Given the description of an element on the screen output the (x, y) to click on. 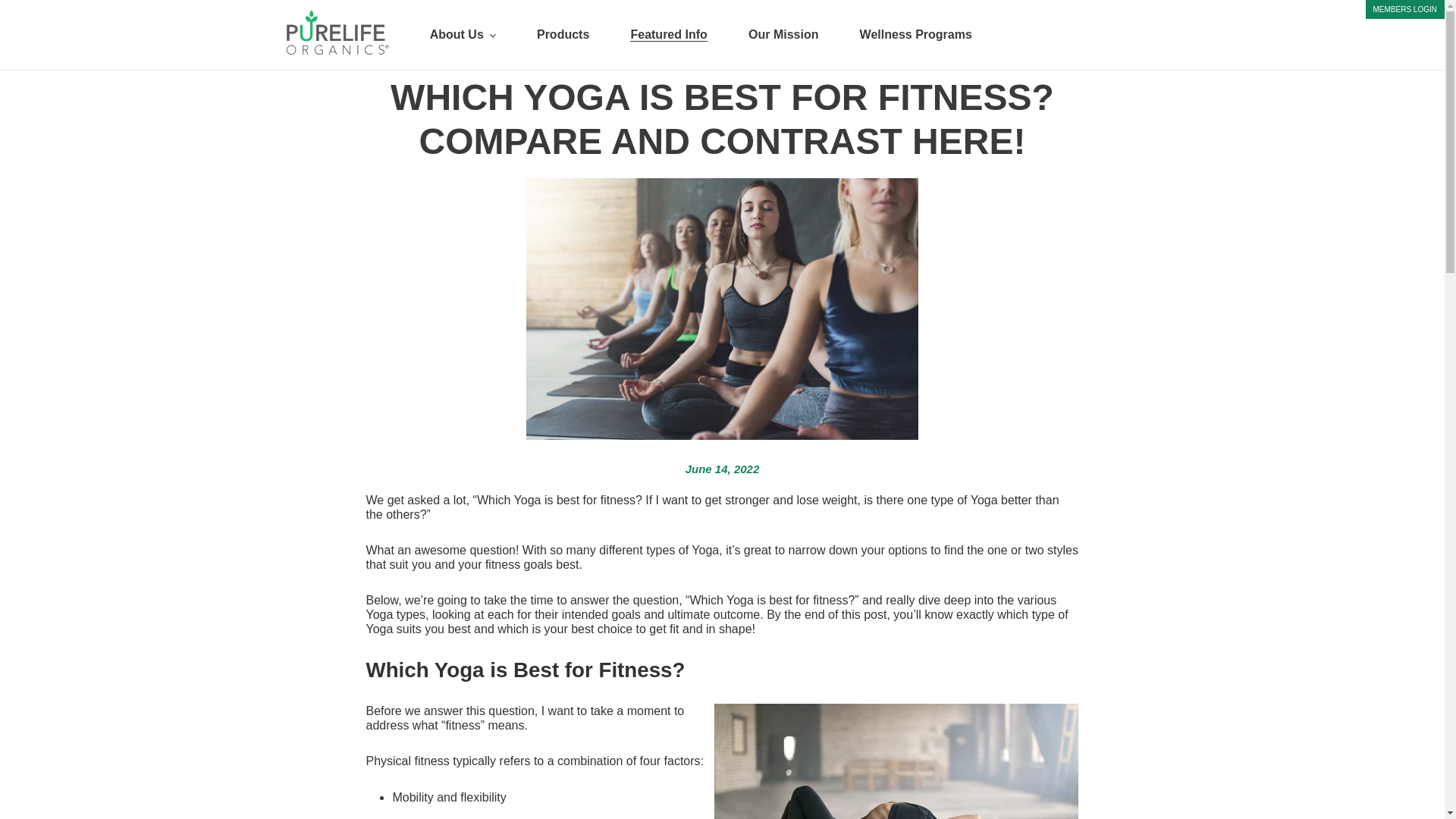
Featured Info (668, 34)
About Us (462, 34)
Products (563, 34)
Our Mission (783, 34)
Wellness Programs (916, 34)
